Given the description of an element on the screen output the (x, y) to click on. 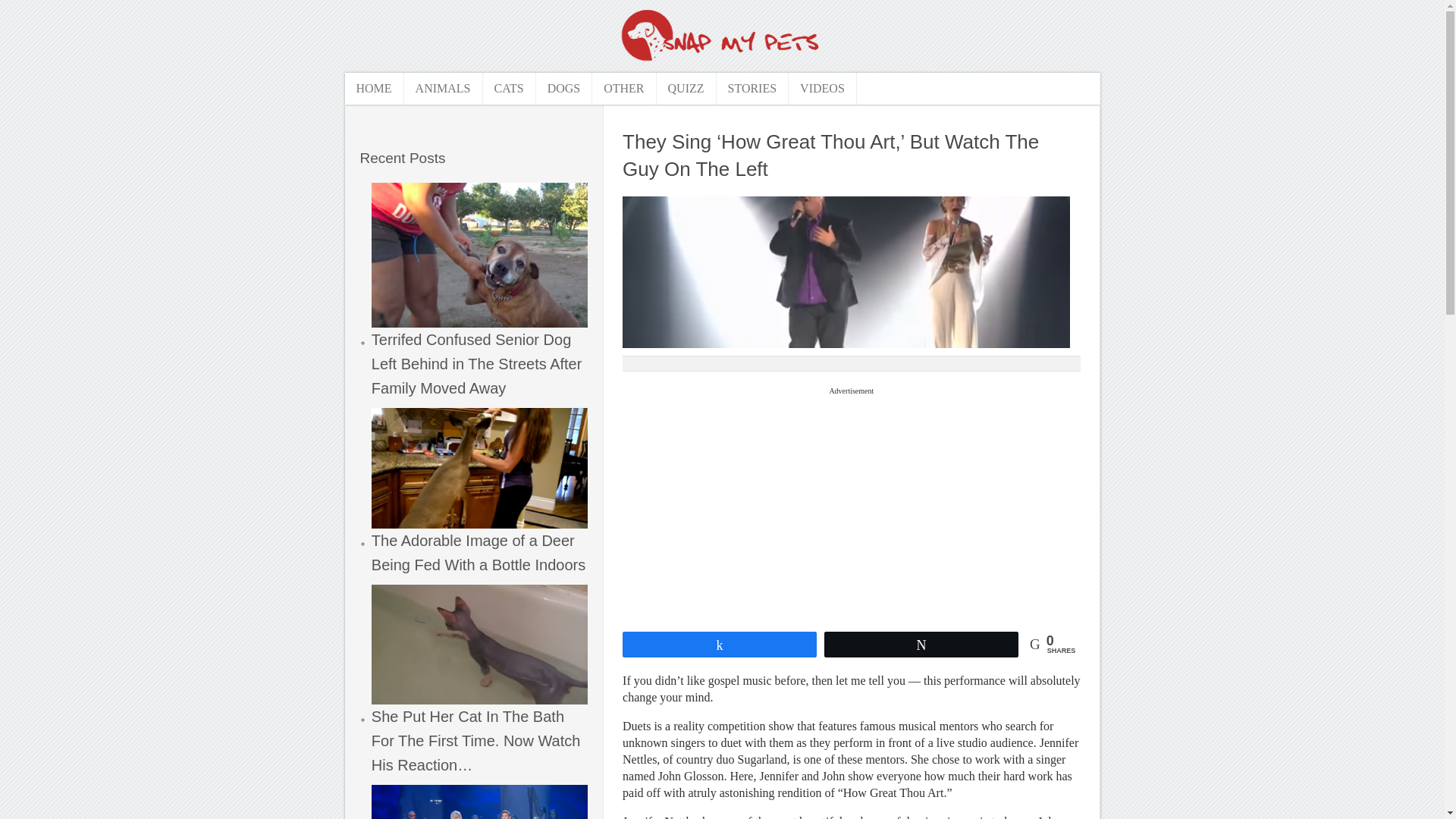
STORIES (752, 88)
The Adorable Image of a Deer Being Fed With a Bottle Indoors (479, 490)
ANIMALS (443, 88)
QUIZZ (686, 88)
Advertisement (850, 505)
VIDEOS (823, 88)
HOME (373, 88)
DOGS (563, 88)
OTHER (624, 88)
CATS (508, 88)
